Given the description of an element on the screen output the (x, y) to click on. 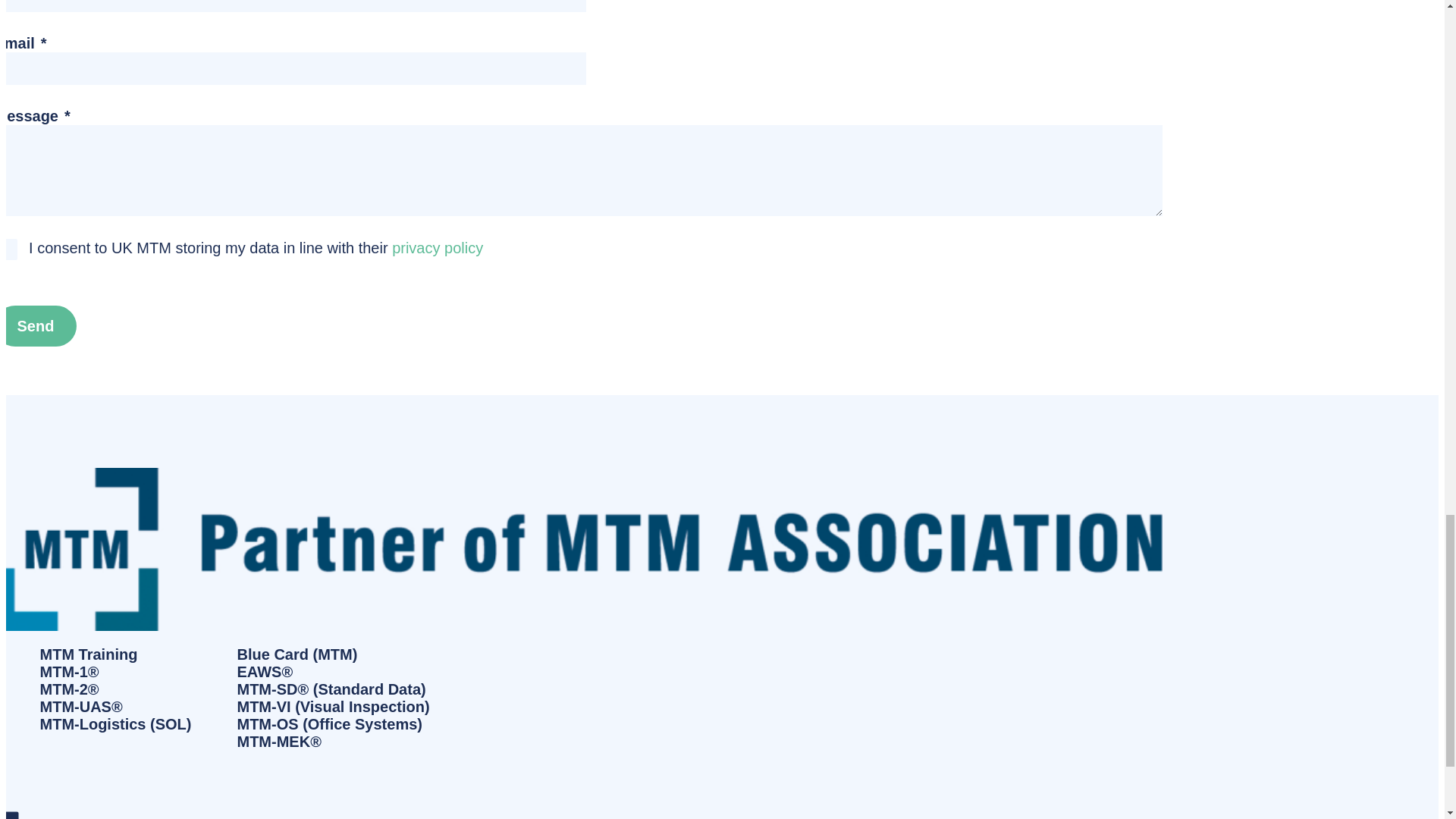
privacy policy (437, 247)
MTM Training (114, 654)
Send (38, 325)
Send (38, 325)
